Given the description of an element on the screen output the (x, y) to click on. 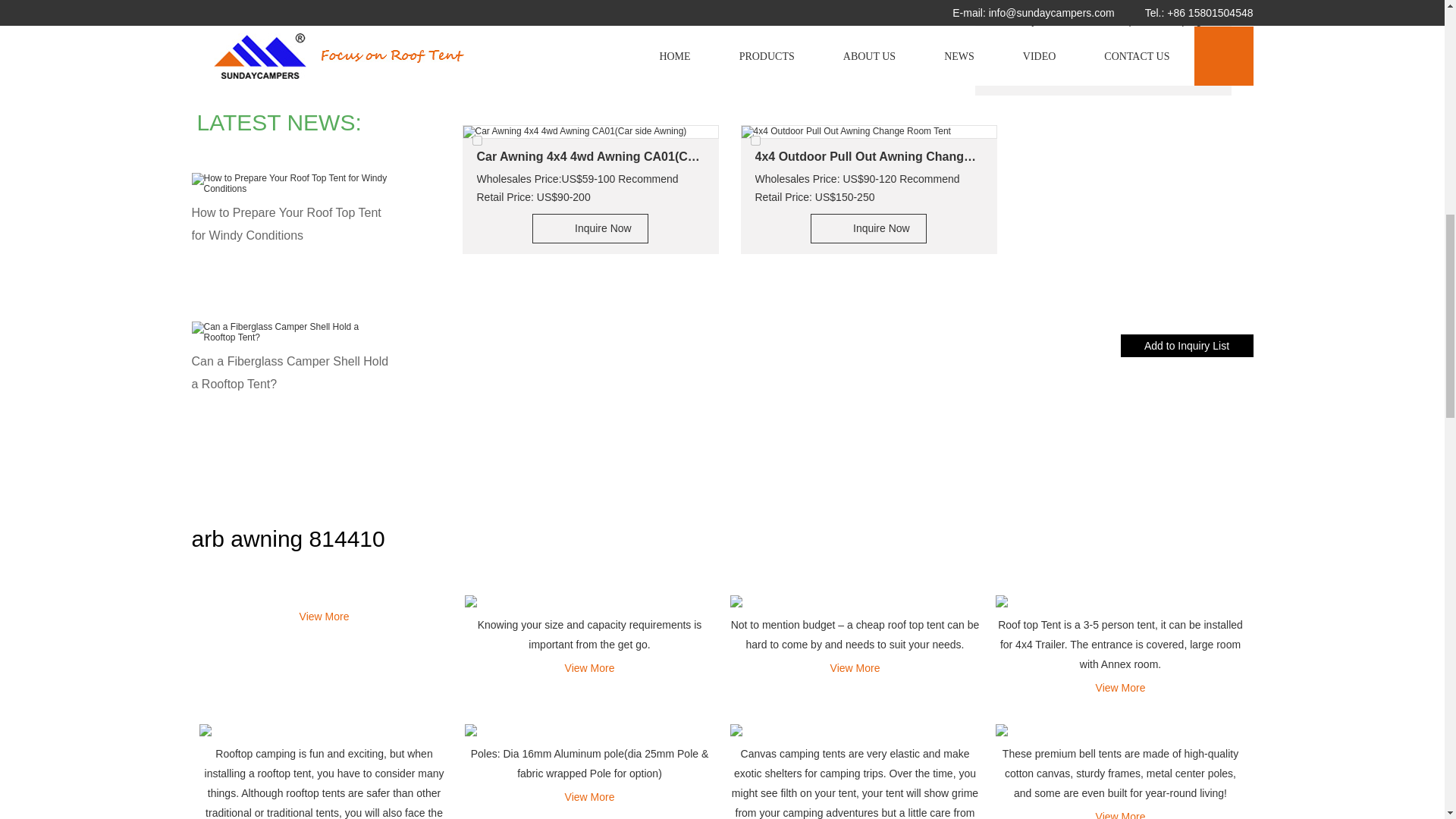
on (476, 140)
Add to Inquiry List (1187, 345)
842 (476, 140)
on (755, 140)
843 (755, 140)
